Given the description of an element on the screen output the (x, y) to click on. 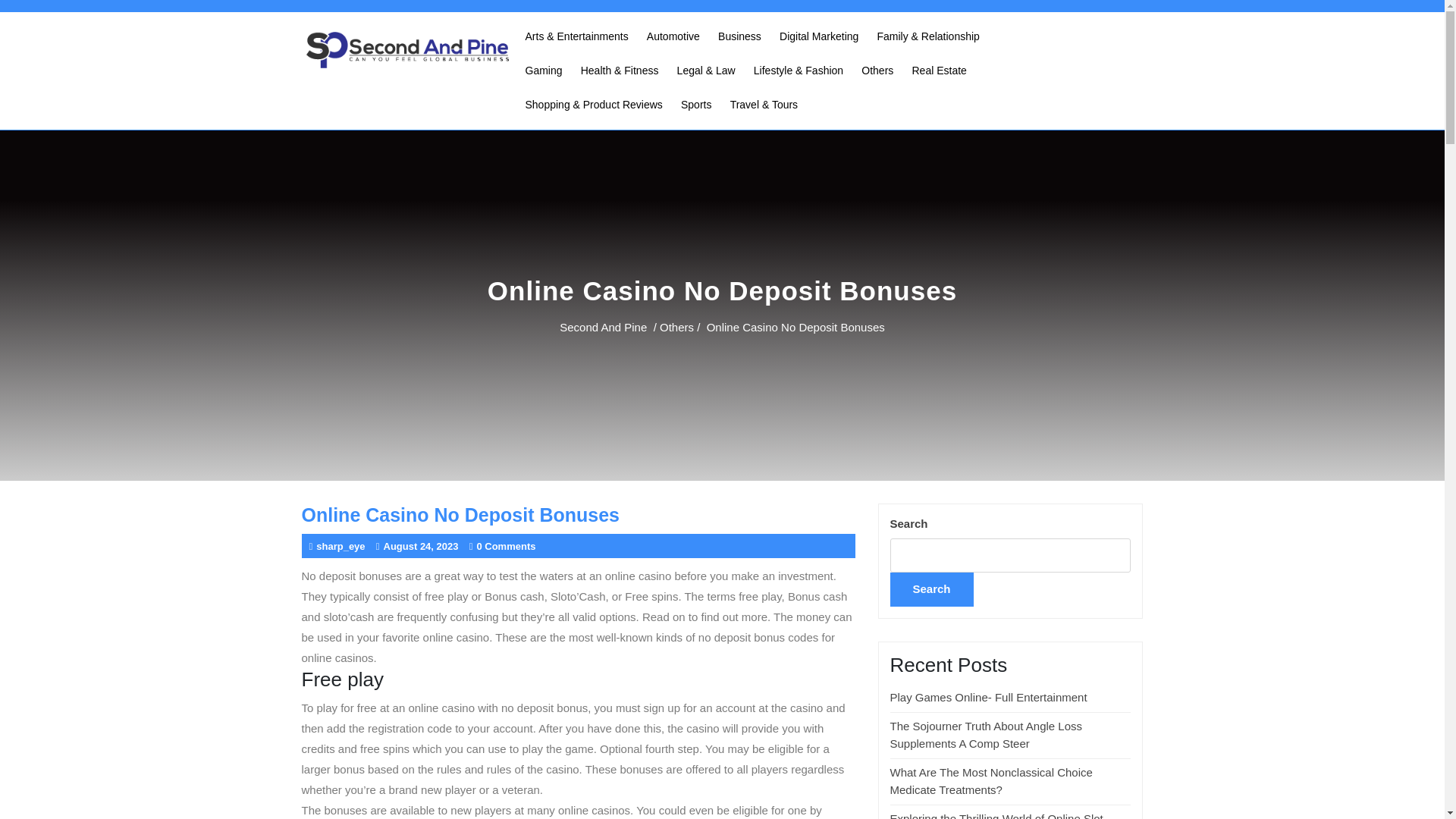
Search (931, 589)
Digital Marketing (818, 36)
Second And Pine (602, 326)
What Are The Most Nonclassical Choice Medicate Treatments? (991, 780)
Exploring the Thrilling World of Online Slot Games (996, 815)
Real Estate (939, 70)
Sports (695, 104)
Others (877, 70)
Others (676, 326)
Gaming (542, 70)
Business (739, 36)
Automotive (673, 36)
Play Games Online- Full Entertainment (988, 697)
